Given the description of an element on the screen output the (x, y) to click on. 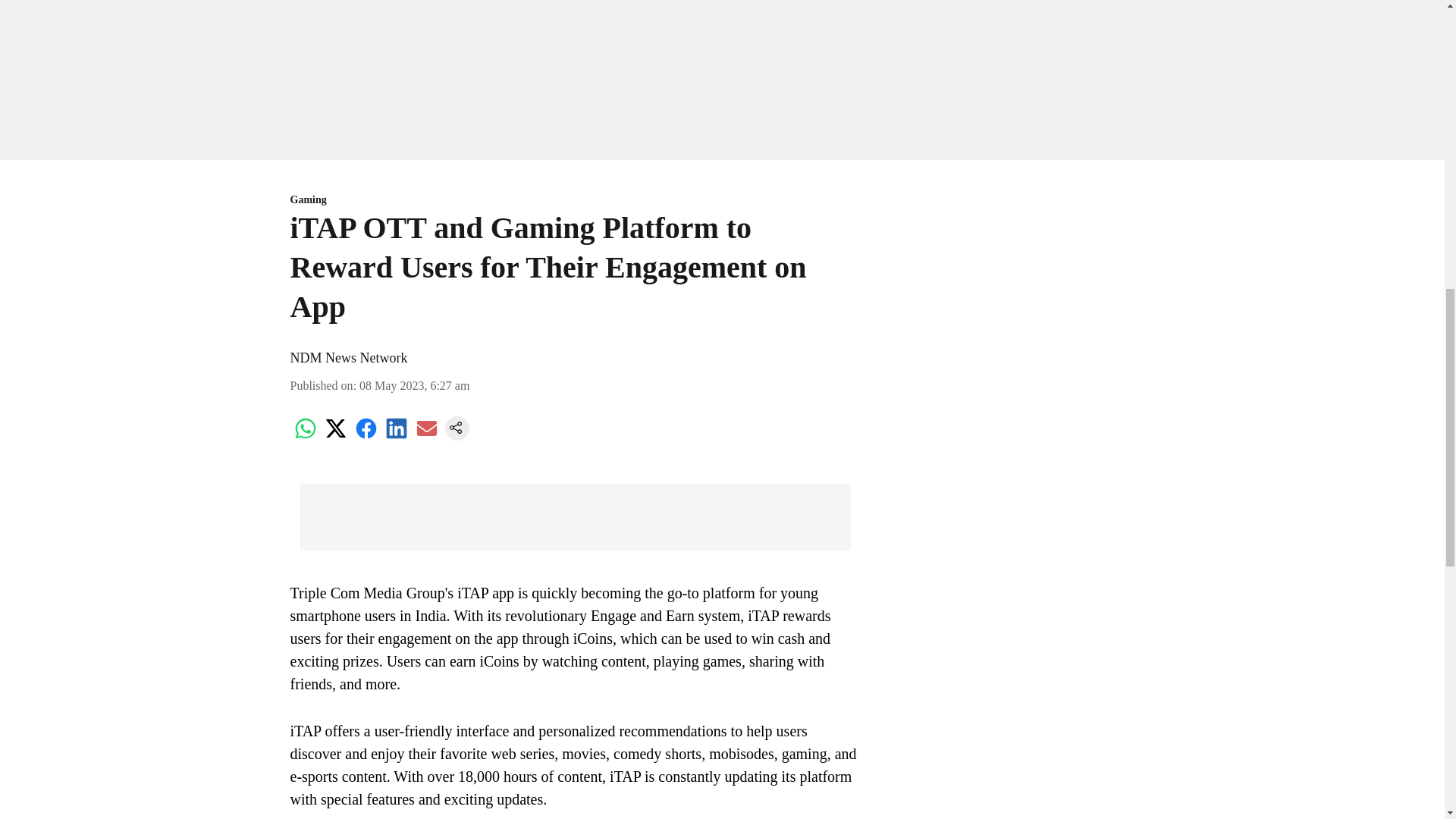
NDM News Network (348, 357)
2023-05-08 06:27 (413, 385)
Gaming (574, 200)
